Given the description of an element on the screen output the (x, y) to click on. 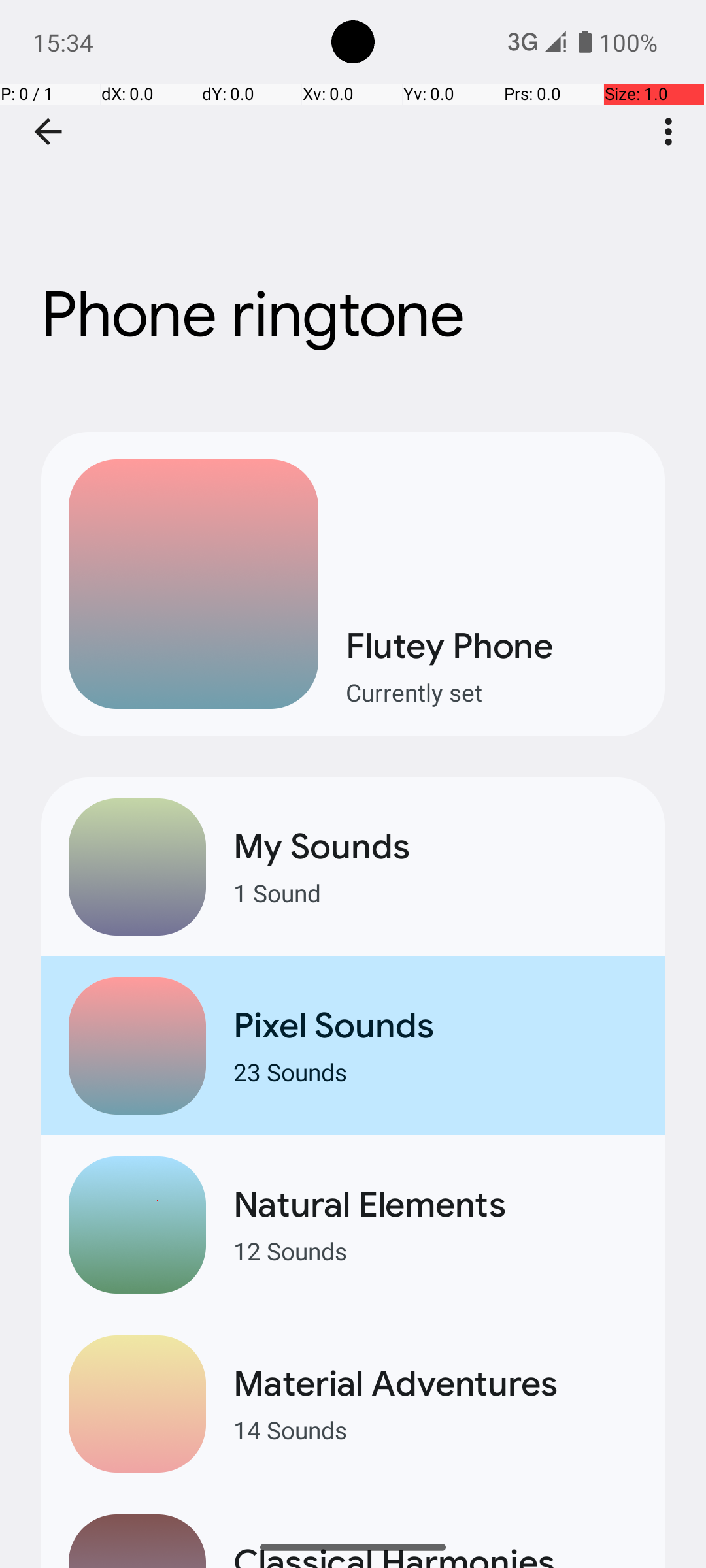
Currently set Element type: android.widget.TextView (491, 691)
My Sounds Element type: android.widget.TextView (435, 846)
1 Sound Element type: android.widget.TextView (435, 892)
Pixel Sounds Element type: android.widget.TextView (435, 1025)
23 Sounds Element type: android.widget.TextView (435, 1071)
Natural Elements Element type: android.widget.TextView (435, 1204)
Material Adventures Element type: android.widget.TextView (435, 1383)
Classical Harmonies Element type: android.widget.TextView (435, 1554)
